Given the description of an element on the screen output the (x, y) to click on. 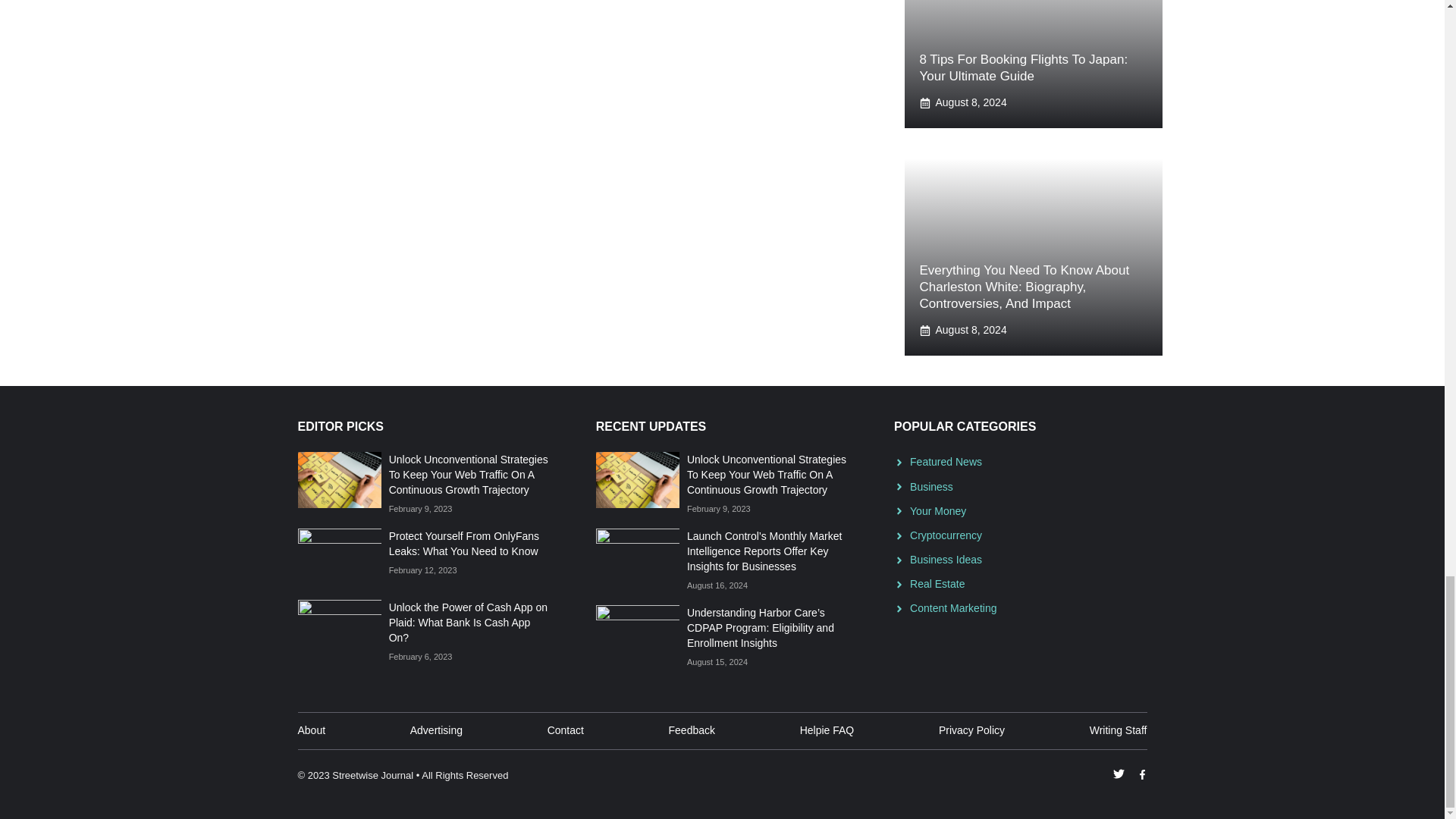
Protect Yourself From OnlyFans Leaks: What You Need to Know (463, 543)
8 Tips For Booking Flights To Japan: Your Ultimate Guide (1022, 67)
Featured News (945, 461)
